Given the description of an element on the screen output the (x, y) to click on. 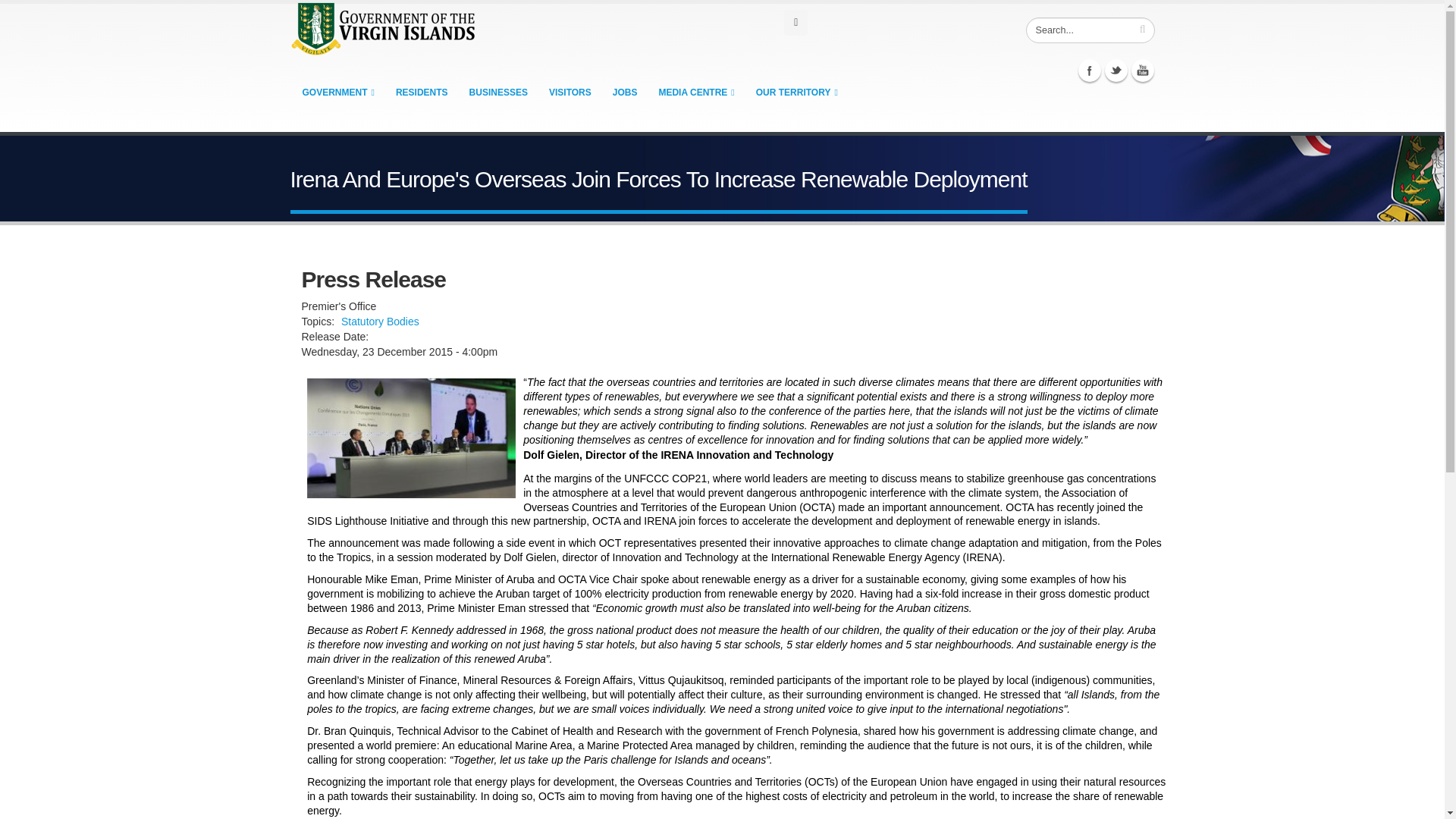
GOVERNMENT (338, 91)
MEDIA CENTRE (695, 91)
Home (383, 26)
Enter the terms you wish to search for. (1089, 30)
BUSINESSES (498, 91)
Search... (1089, 30)
JOBS (624, 91)
Youtube (1142, 69)
Search... (1089, 30)
Facebook (1089, 69)
